Given the description of an element on the screen output the (x, y) to click on. 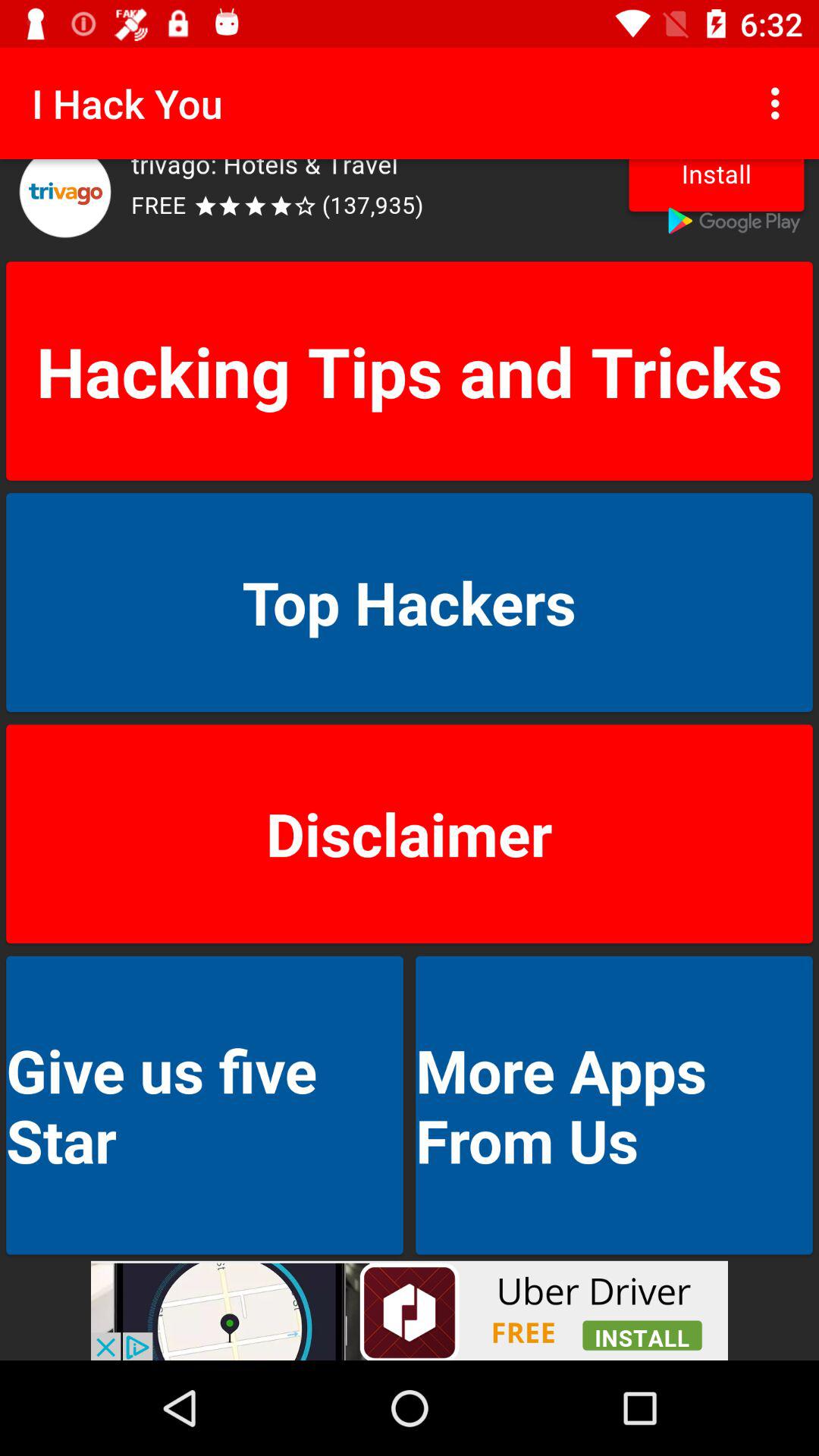
click advertisement (409, 207)
